Given the description of an element on the screen output the (x, y) to click on. 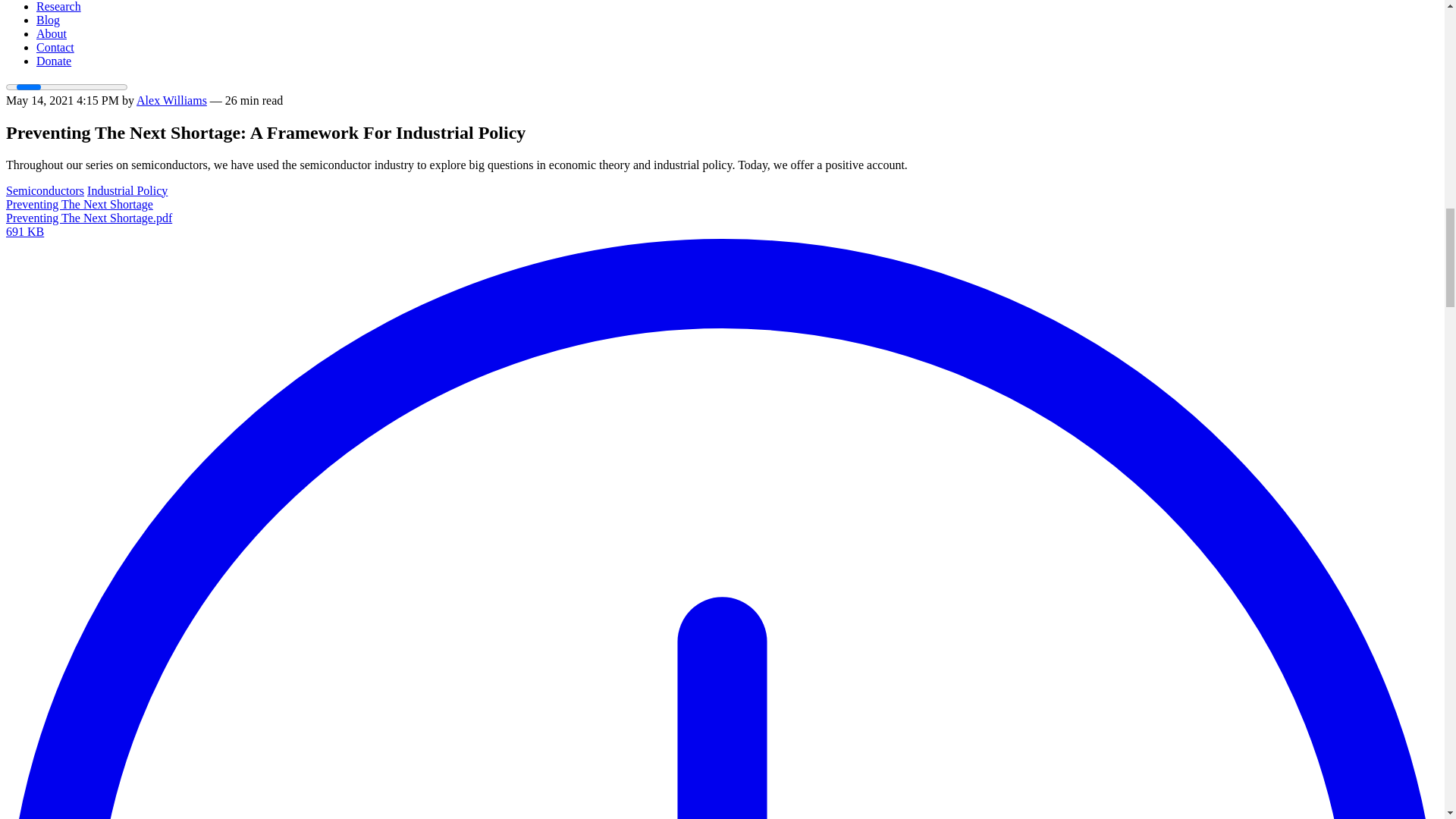
Research (58, 6)
About (51, 33)
Donate (53, 60)
Alex Williams (171, 100)
Semiconductors (44, 190)
Contact (55, 47)
Industrial Policy (127, 190)
Blog (47, 19)
